Given the description of an element on the screen output the (x, y) to click on. 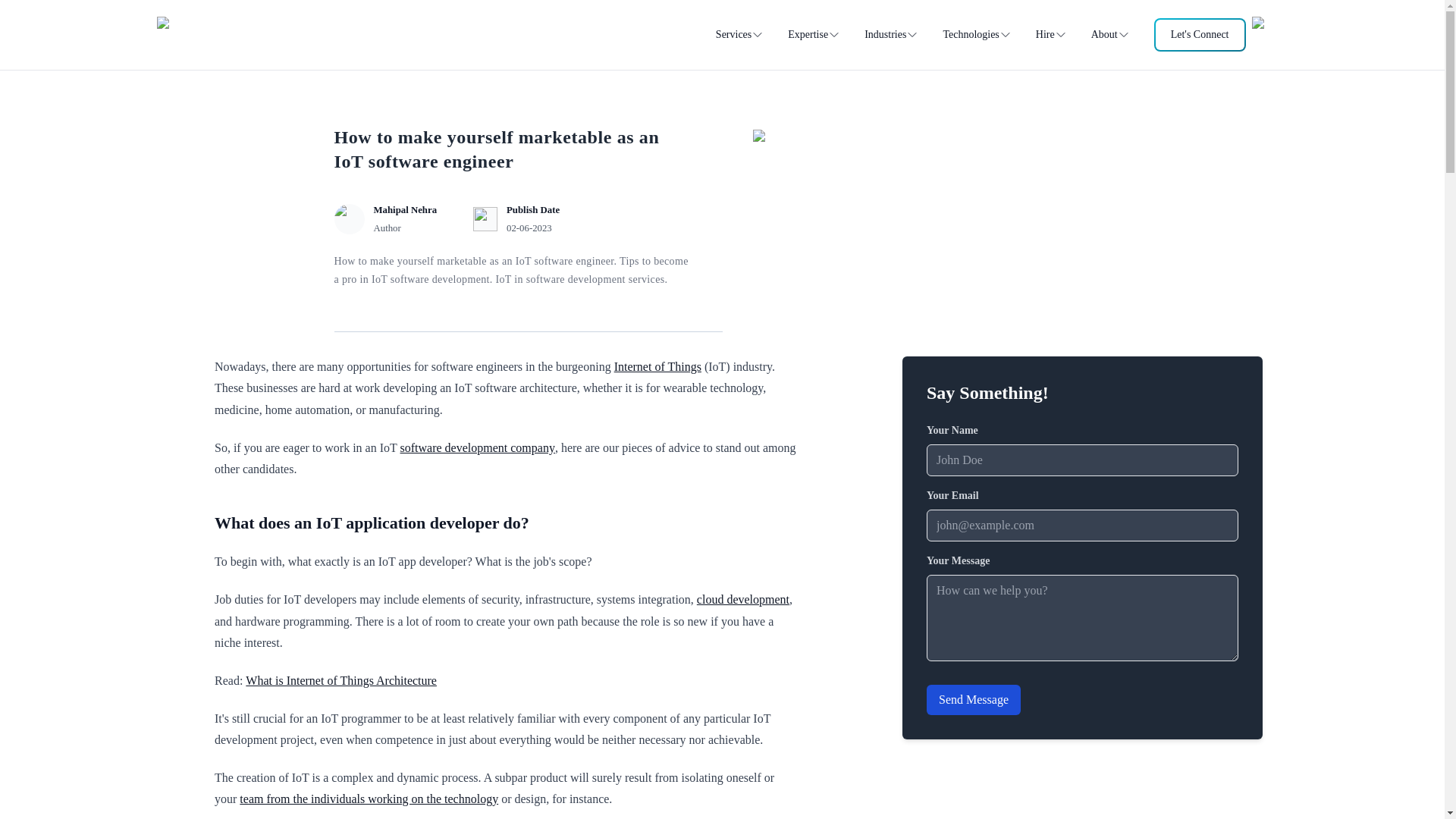
team from the individuals working on the technology (368, 798)
Services (739, 34)
About (1109, 34)
Technologies (976, 34)
software development company (477, 447)
Expertise (813, 34)
cloud development (743, 599)
Industries (891, 34)
Hire (1051, 34)
Send Message (973, 699)
Internet of Things (657, 366)
What is Internet of Things Architecture (341, 680)
Let's Connect (1200, 34)
